Given the description of an element on the screen output the (x, y) to click on. 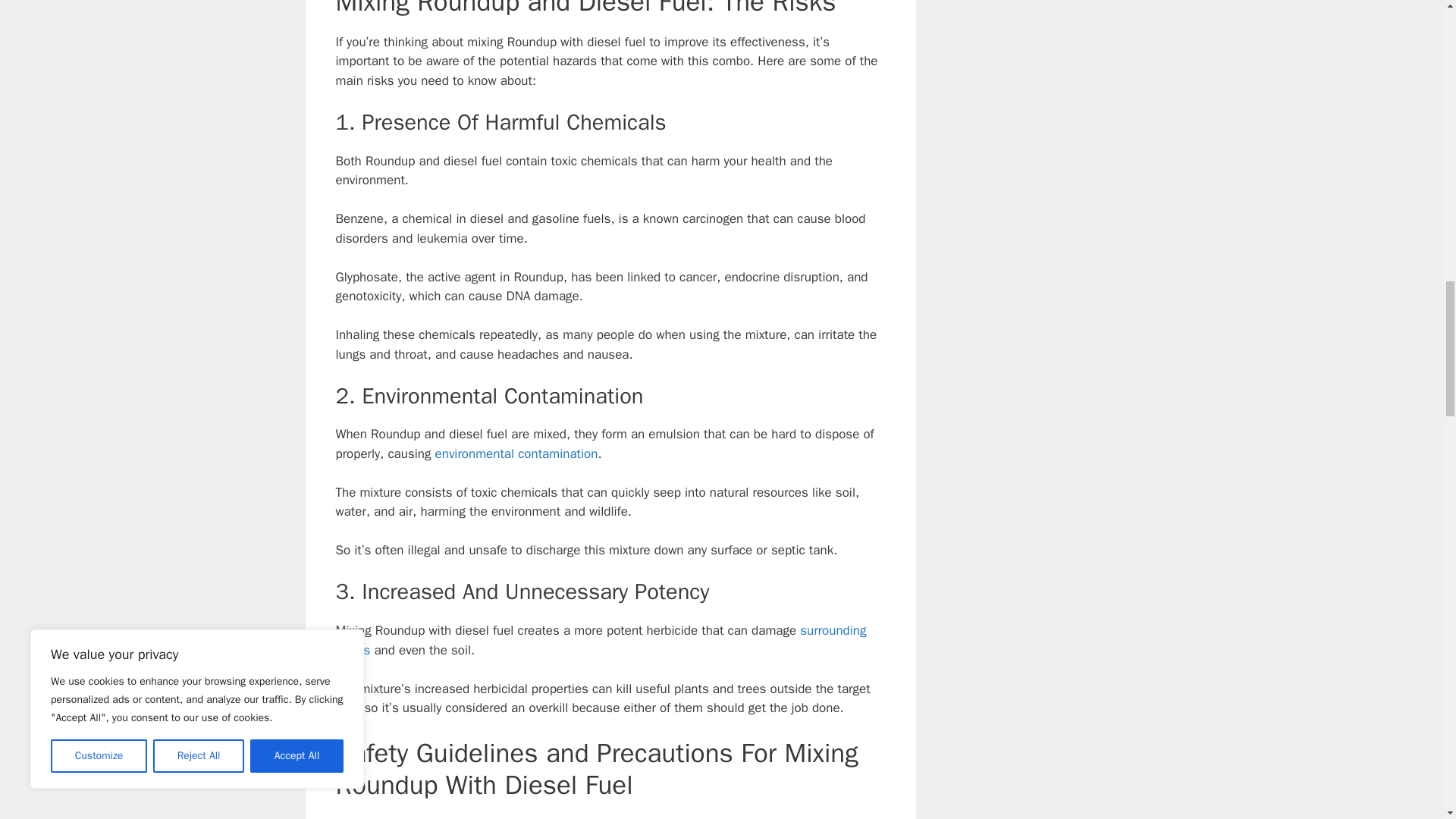
environmental contamination (516, 453)
surrounding plants (600, 640)
